Given the description of an element on the screen output the (x, y) to click on. 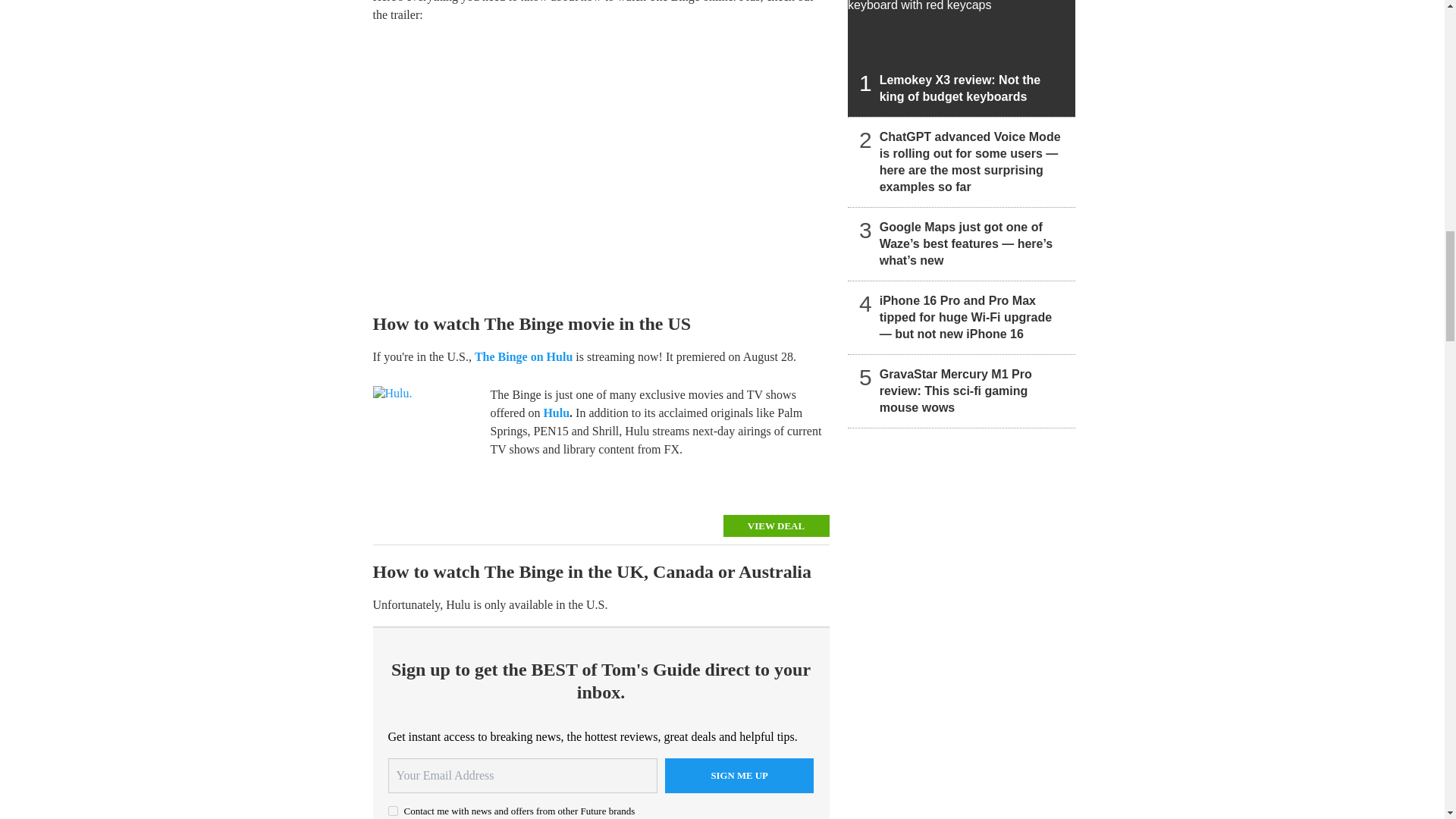
Sign me up (739, 775)
Lemokey X3 review: Not the king of budget keyboards (961, 58)
Hulu. (425, 442)
on (392, 810)
